Given the description of an element on the screen output the (x, y) to click on. 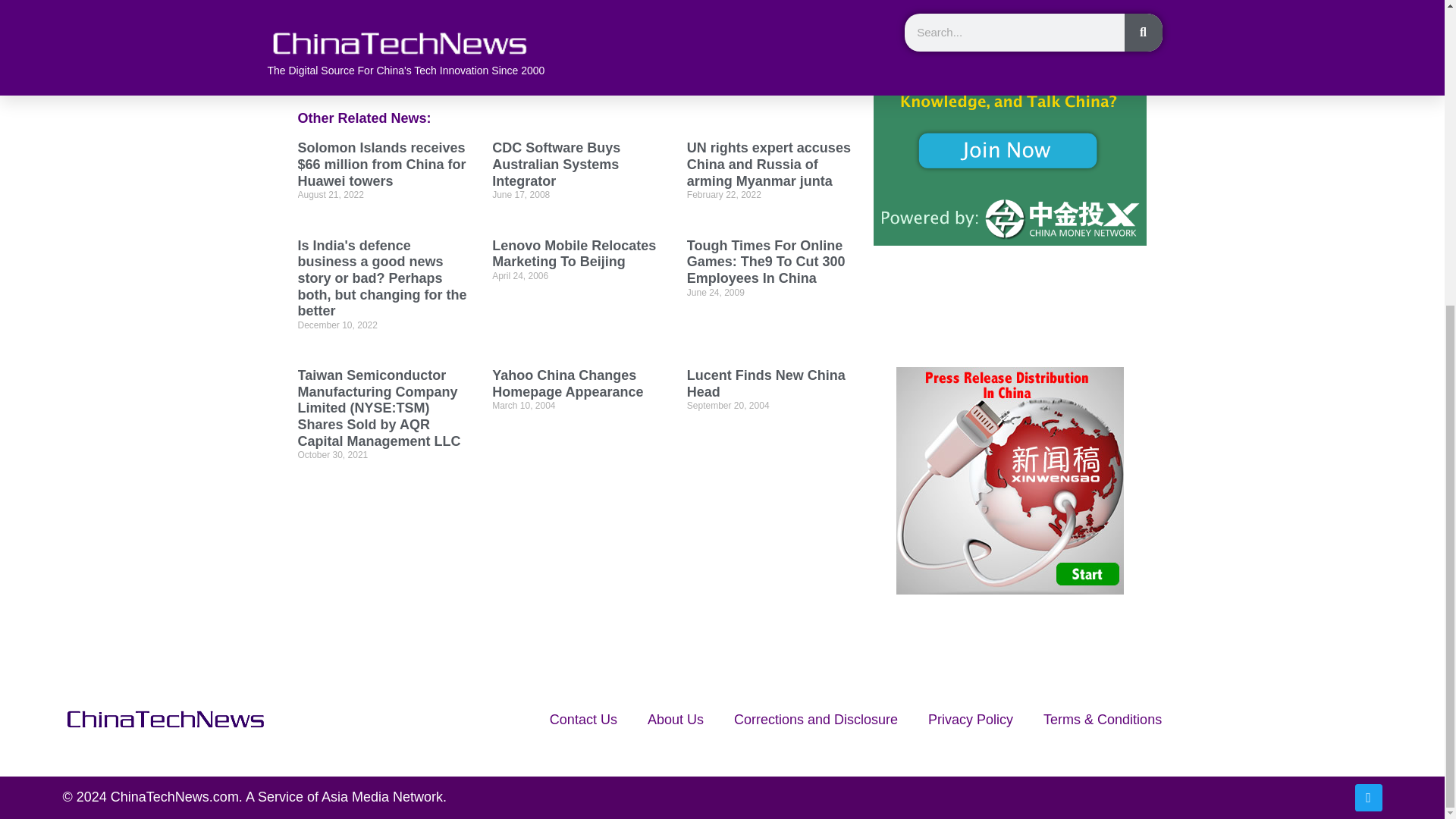
telecom (655, 34)
research (491, 34)
Lenovo Mobile Relocates Marketing To Beijing (574, 254)
China (391, 15)
share (540, 34)
China Telecom (457, 15)
technology (595, 34)
Contact Us (582, 719)
Asia Media Network (381, 796)
Corrections and Disclosure (815, 719)
Lucent Finds New China Head (766, 383)
commission (540, 15)
network (373, 34)
